Given the description of an element on the screen output the (x, y) to click on. 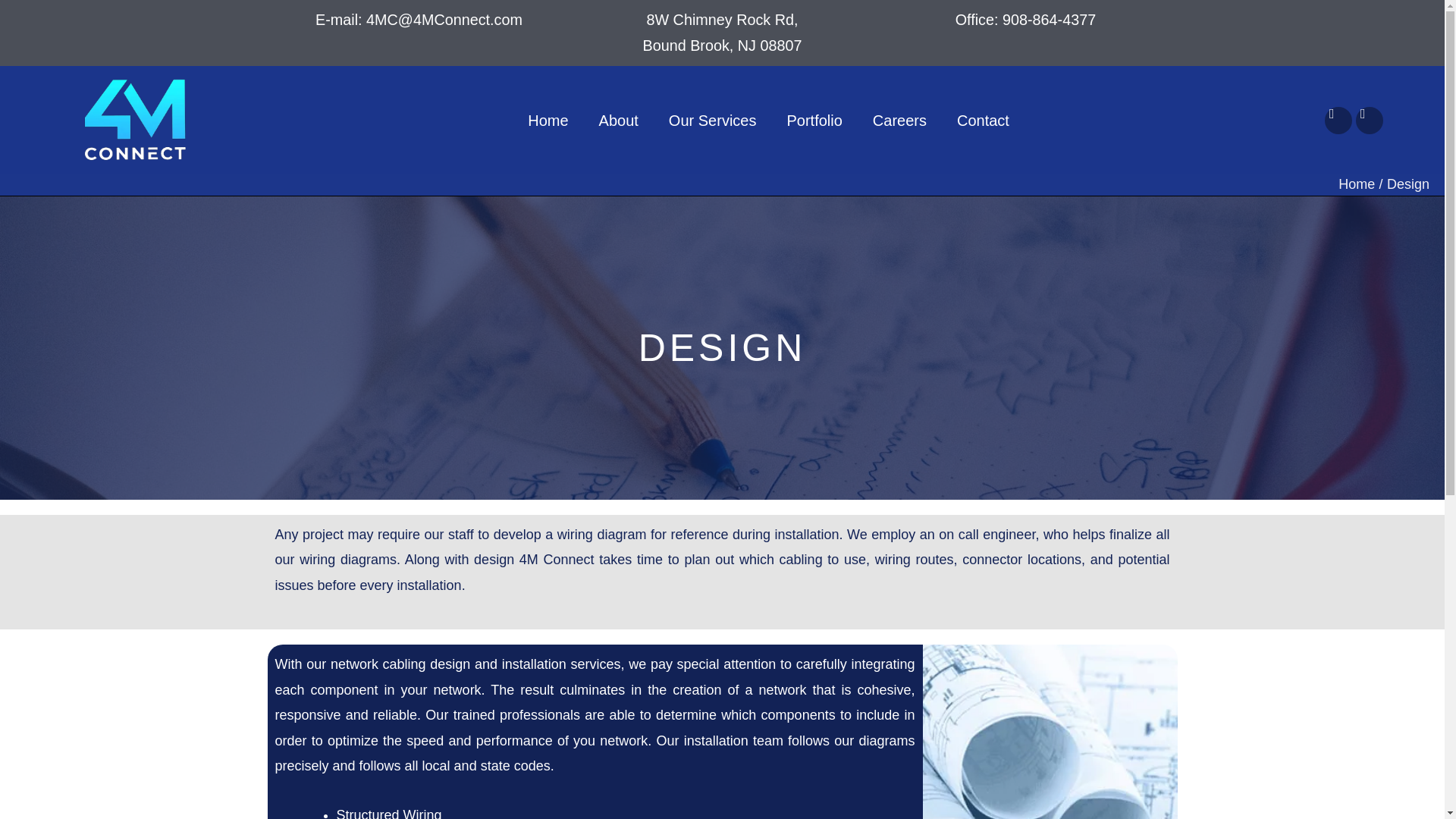
Contact (983, 120)
Careers (899, 120)
Home (547, 120)
About (618, 120)
Our Services (722, 32)
Office: 908-864-4377 (712, 120)
Portfolio (1025, 19)
